Given the description of an element on the screen output the (x, y) to click on. 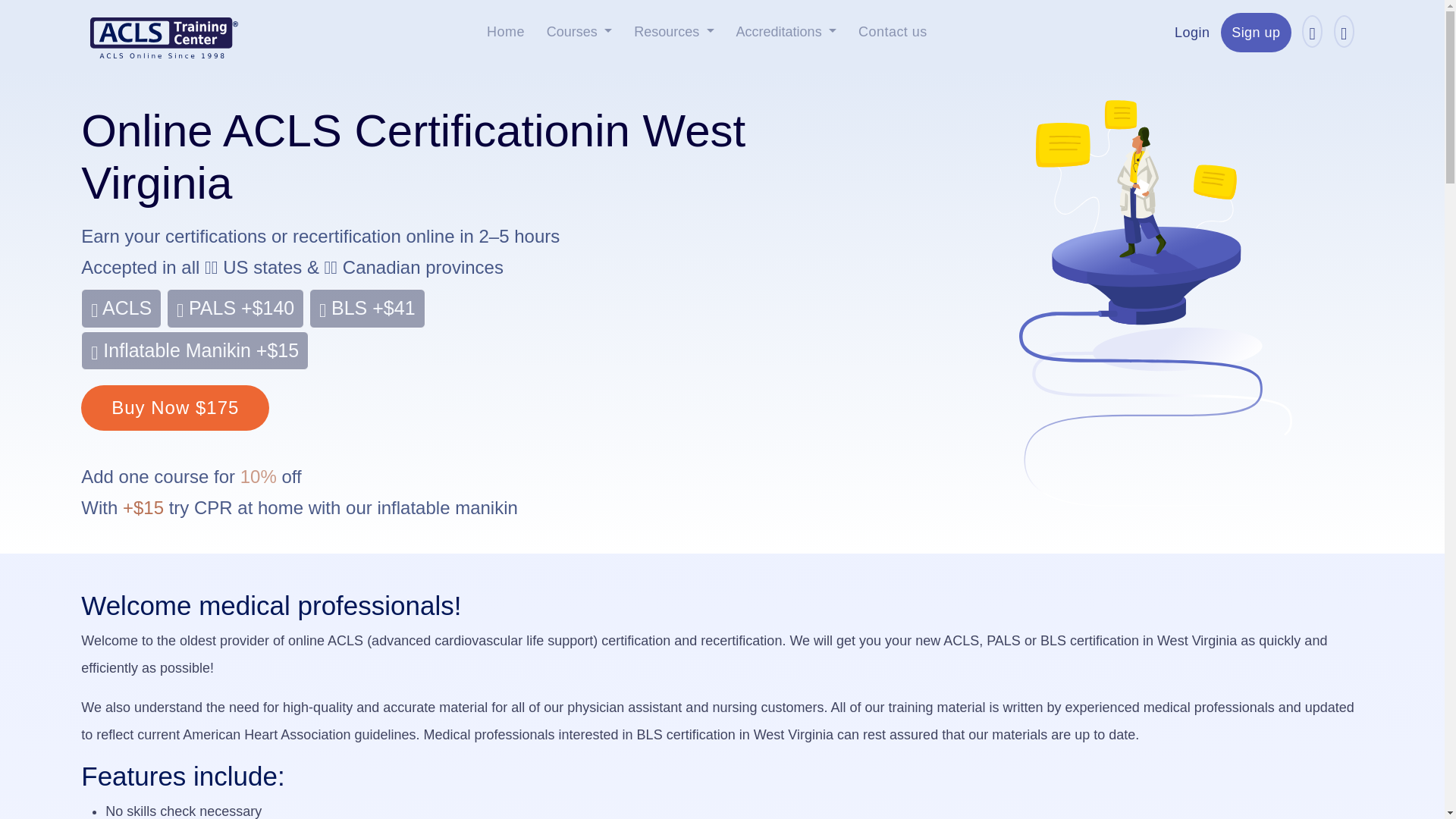
Accreditations (786, 31)
Contact us (893, 31)
Courses (579, 31)
Email (1343, 32)
Resources (674, 31)
Home (505, 31)
Sign up (1256, 31)
Login (1192, 31)
ACLS (121, 308)
